Given the description of an element on the screen output the (x, y) to click on. 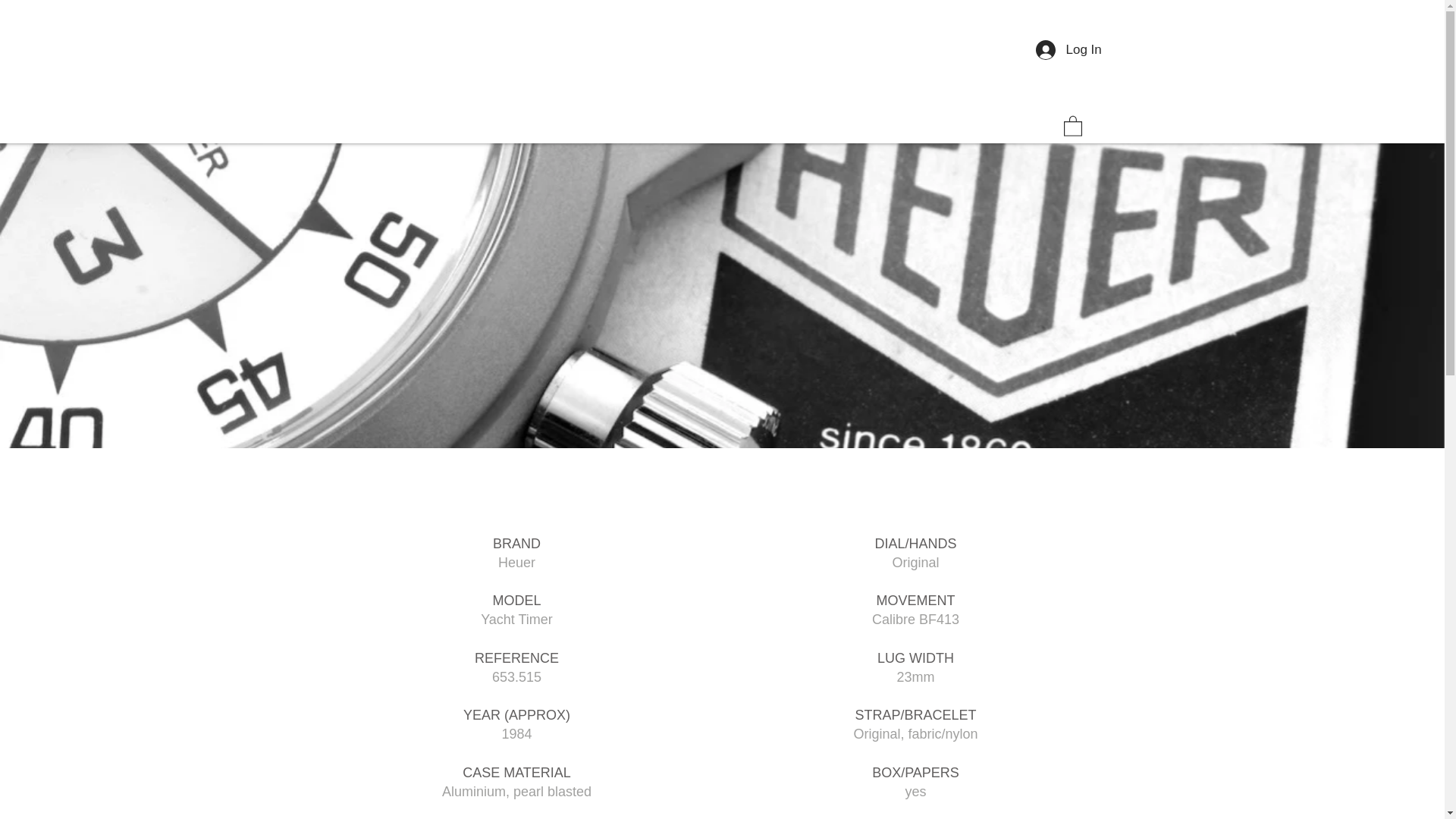
Log In (1059, 50)
